Given the description of an element on the screen output the (x, y) to click on. 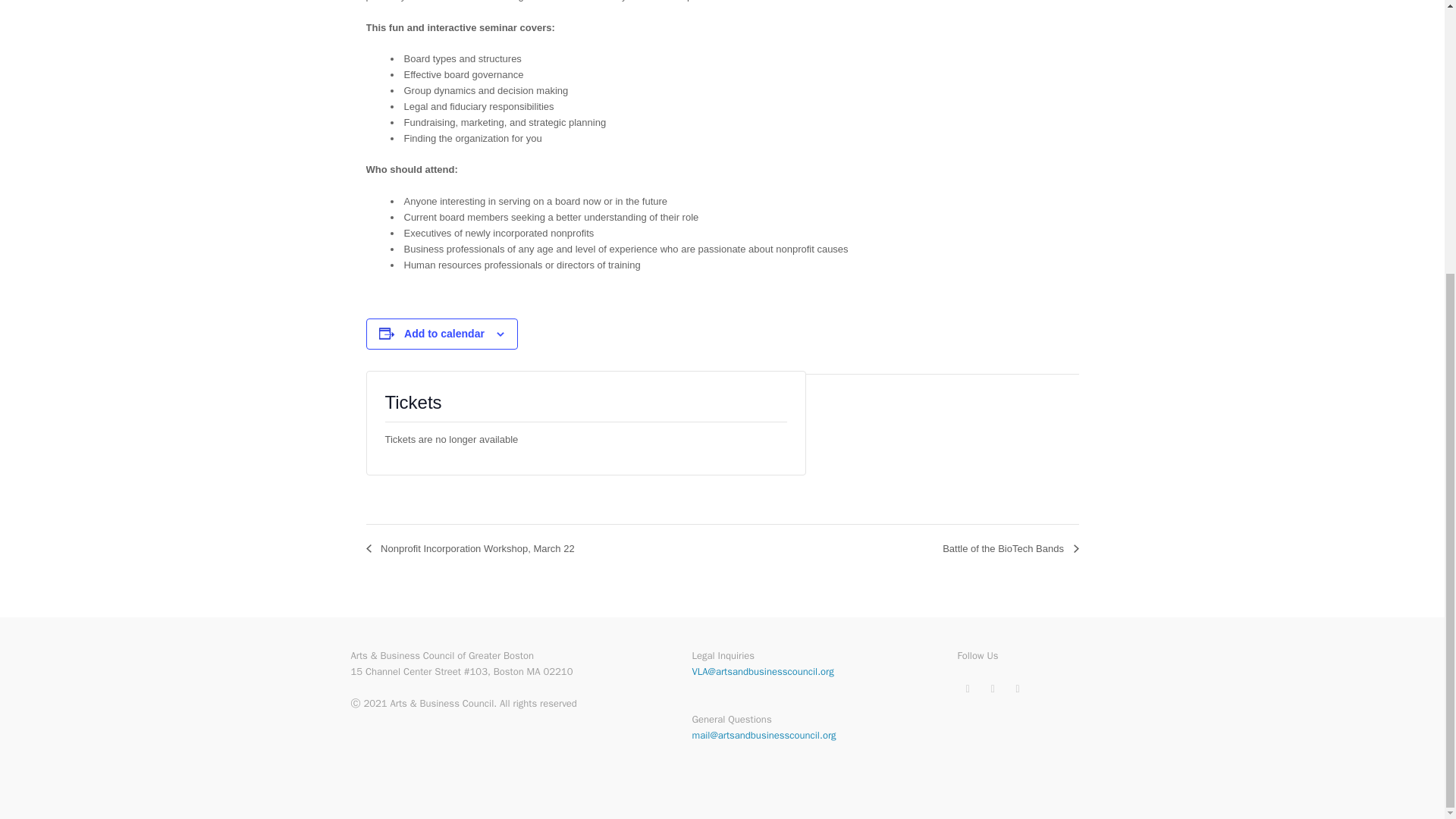
Facebook (992, 689)
Twitter (967, 689)
Instagram (1017, 689)
